Given the description of an element on the screen output the (x, y) to click on. 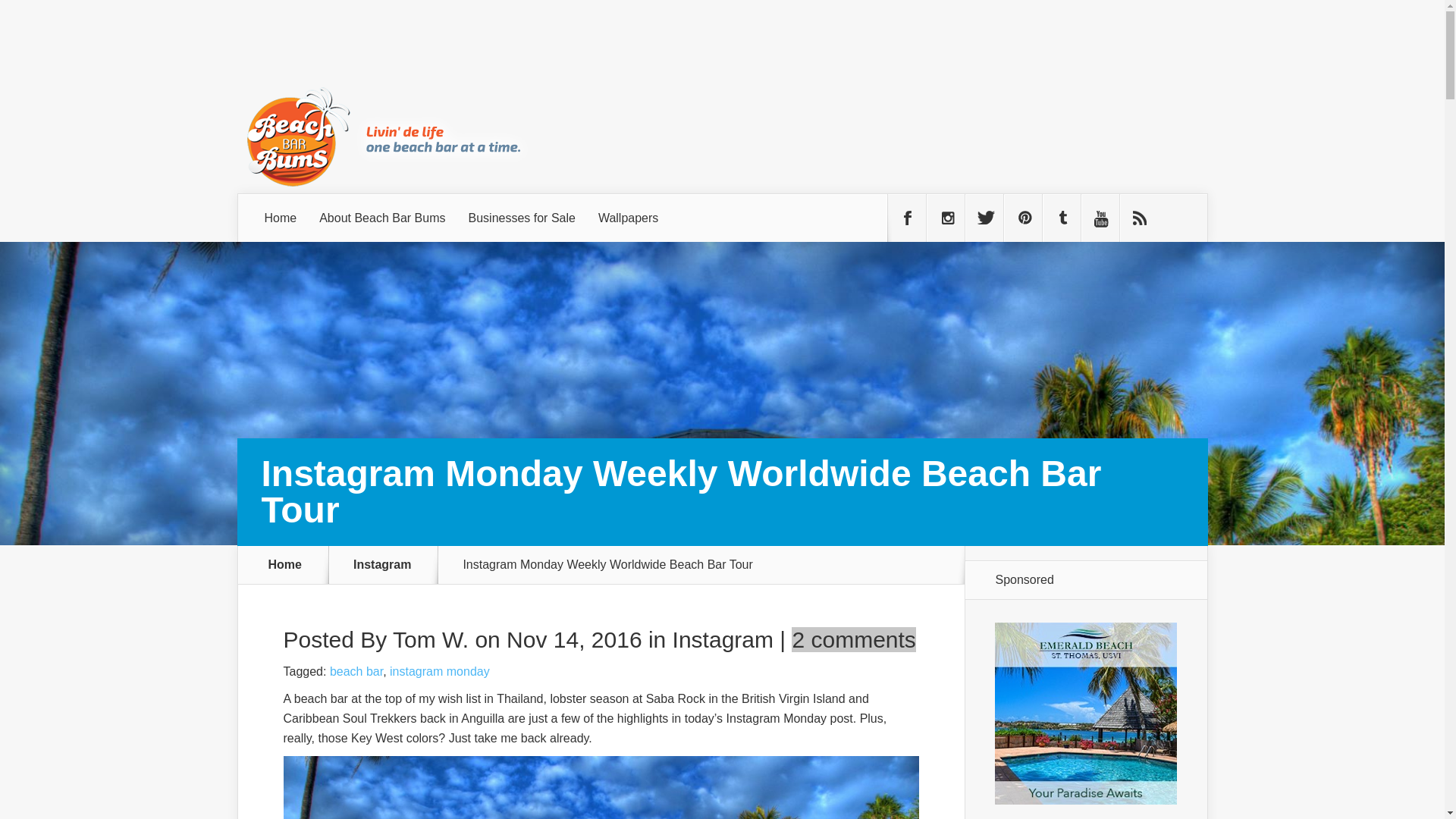
Home (280, 218)
2 comments (853, 639)
Tom W. (430, 639)
Businesses for Sale (521, 218)
Posts by Tom W. (430, 639)
Instagram (391, 564)
instagram monday (439, 671)
Advertisement (931, 63)
About Beach Bar Bums (382, 218)
Wallpapers (627, 218)
